Given the description of an element on the screen output the (x, y) to click on. 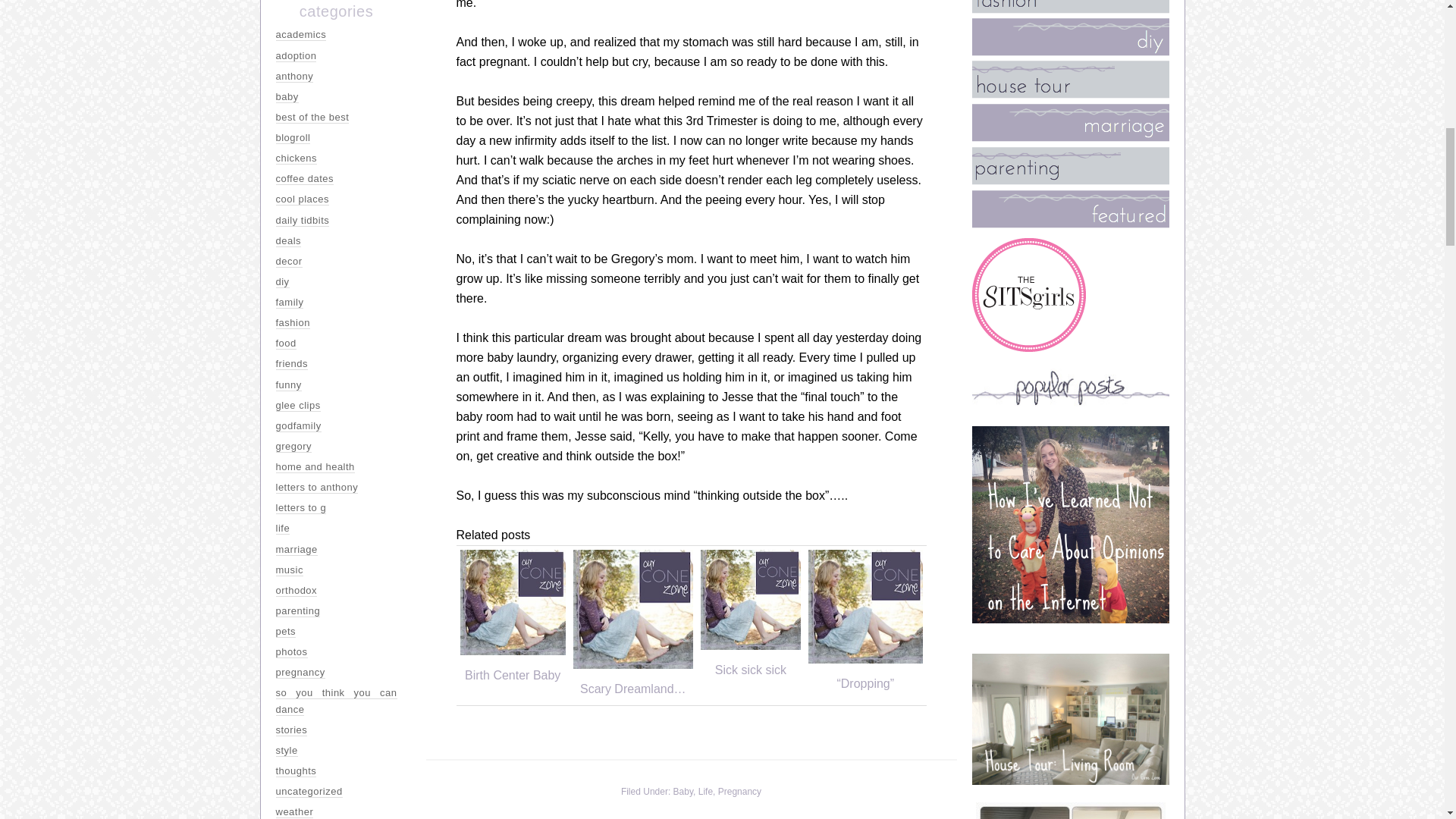
Sick sick sick (750, 669)
Baby (682, 791)
Life (705, 791)
Birth Center Baby (512, 675)
Pregnancy (739, 791)
Pin It on Pinterest (473, 743)
